Given the description of an element on the screen output the (x, y) to click on. 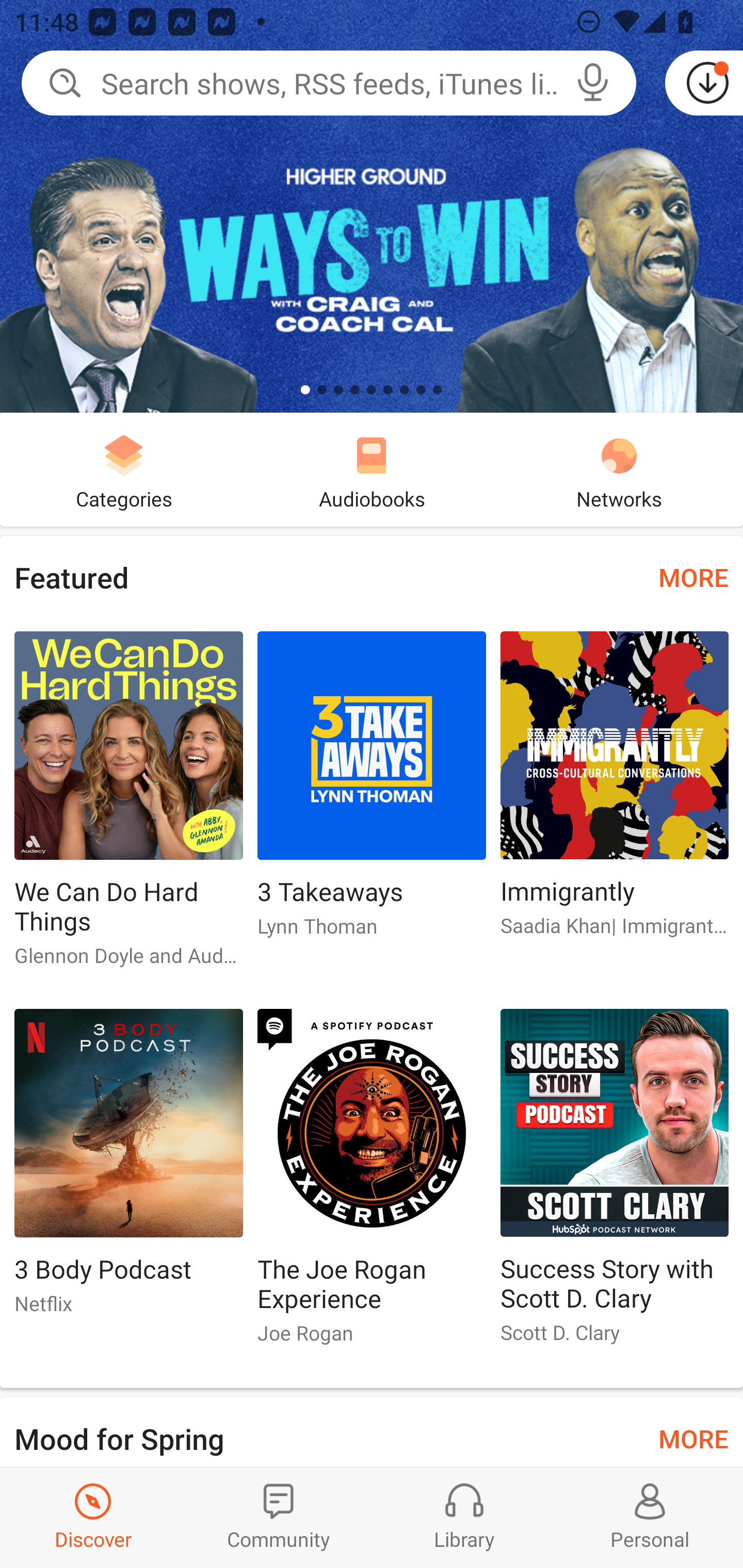
Ways To Win (371, 206)
Categories (123, 469)
Audiobooks (371, 469)
Networks (619, 469)
MORE (693, 576)
3 Takeaways 3 Takeaways Lynn Thoman (371, 792)
3 Body Podcast 3 Body Podcast Netflix (128, 1169)
MORE (693, 1436)
Discover (92, 1517)
Community (278, 1517)
Library (464, 1517)
Profiles and Settings Personal (650, 1517)
